Given the description of an element on the screen output the (x, y) to click on. 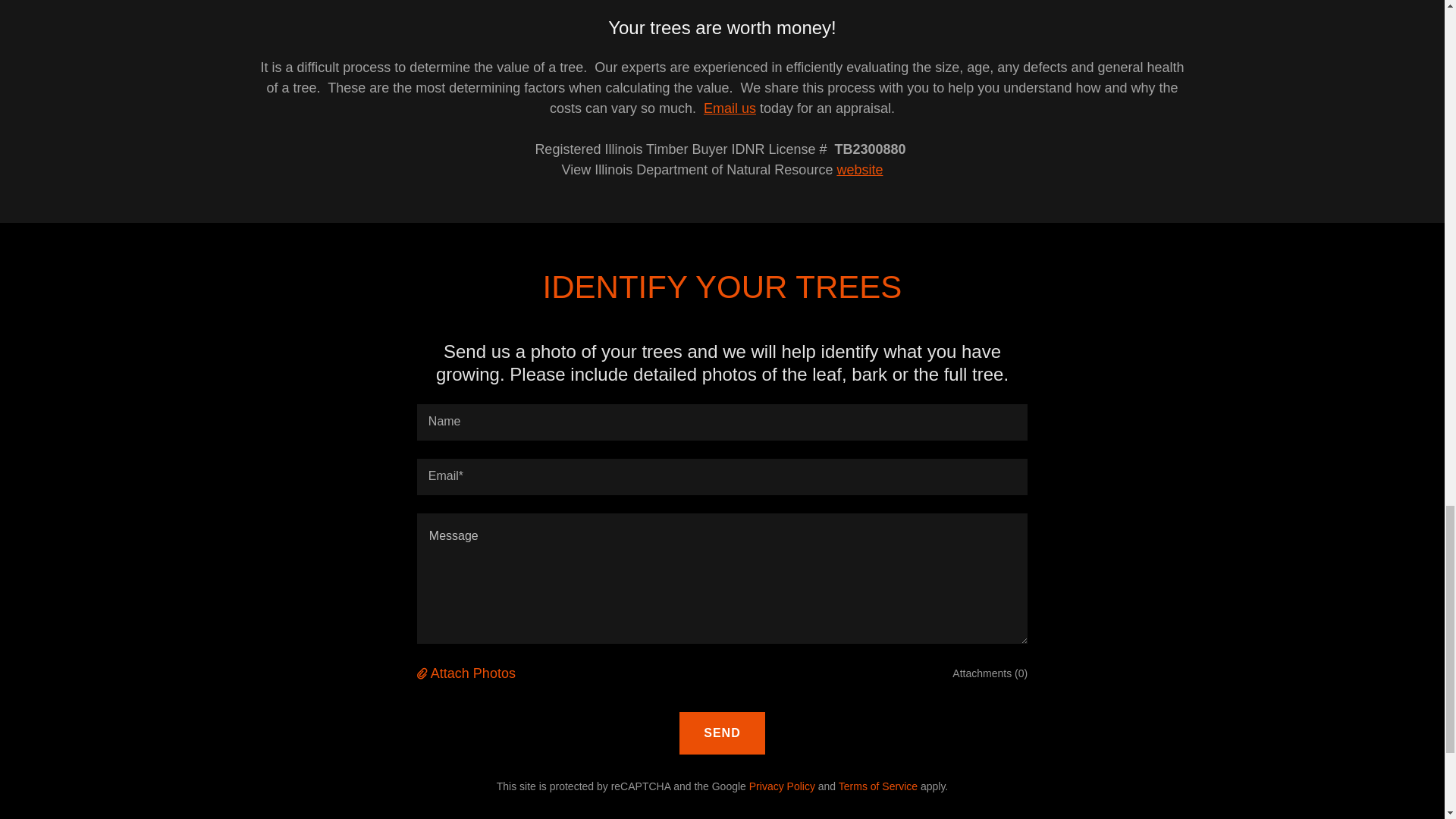
Email us (729, 108)
Terms of Service (877, 786)
Privacy Policy (782, 786)
SEND (721, 732)
website (858, 169)
